Given the description of an element on the screen output the (x, y) to click on. 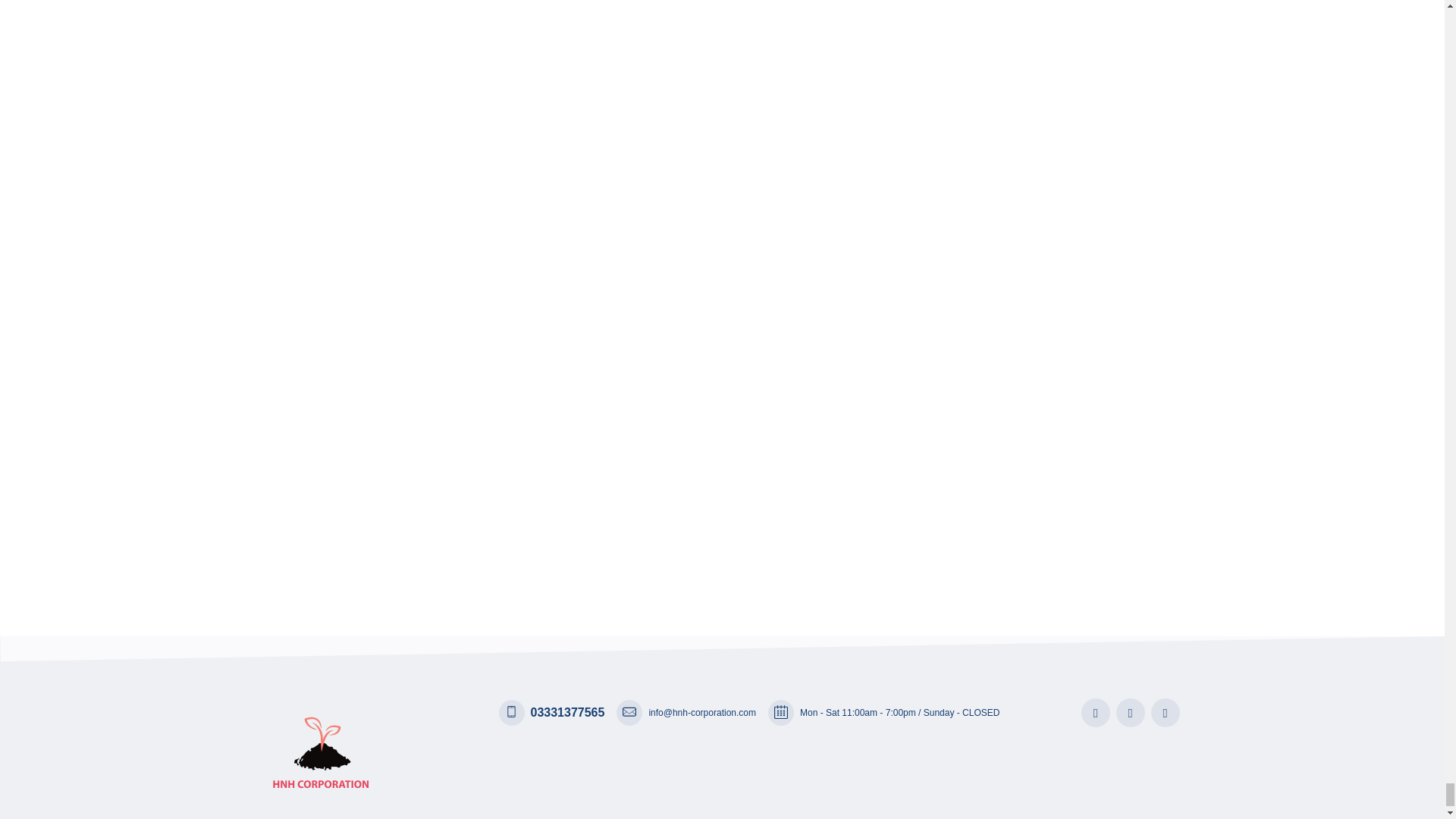
Twitter (1130, 712)
Instagram (1165, 712)
Facebook (1095, 712)
